Given the description of an element on the screen output the (x, y) to click on. 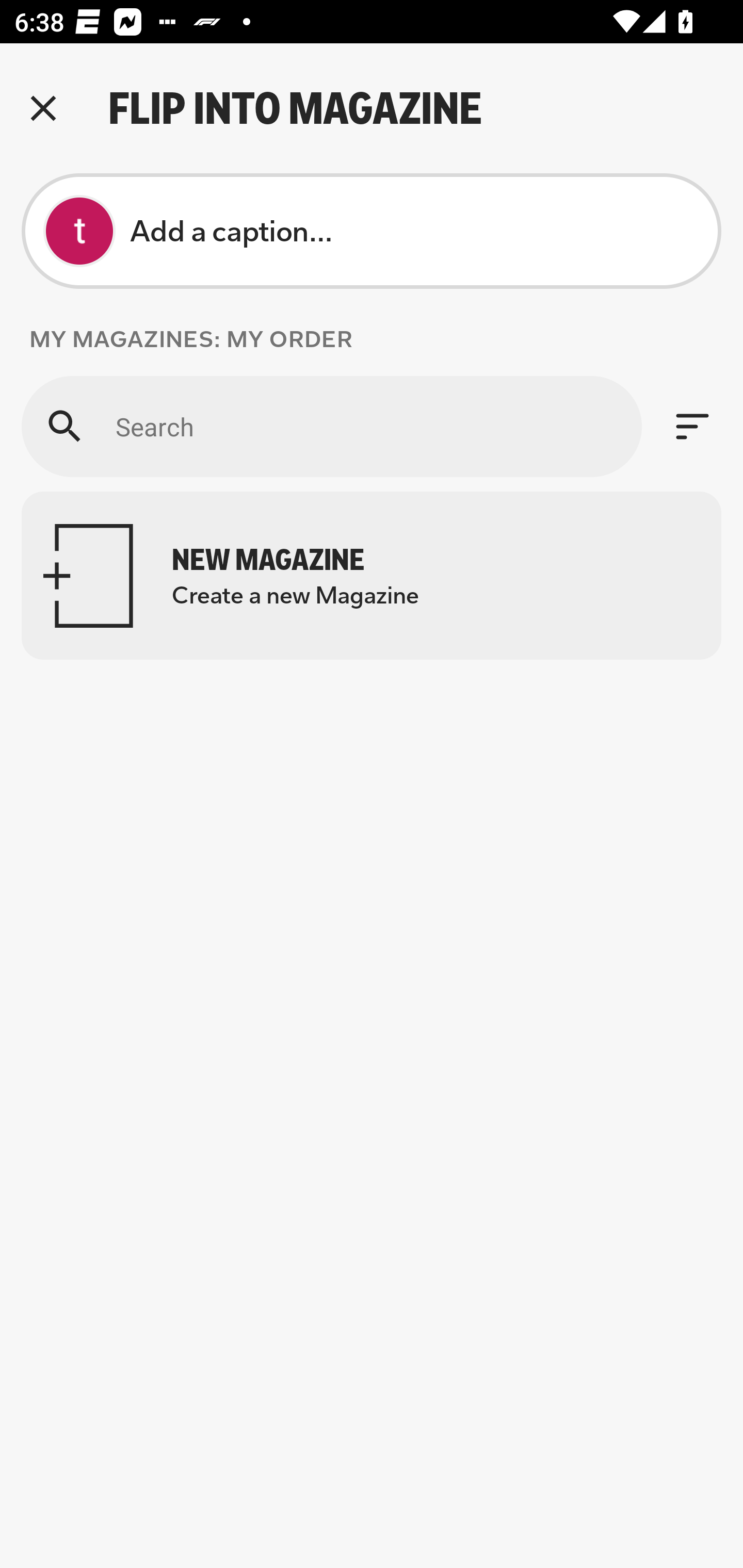
test appium Add a caption… (371, 231)
Search (331, 426)
NEW MAGAZINE Create a new Magazine (371, 575)
